Given the description of an element on the screen output the (x, y) to click on. 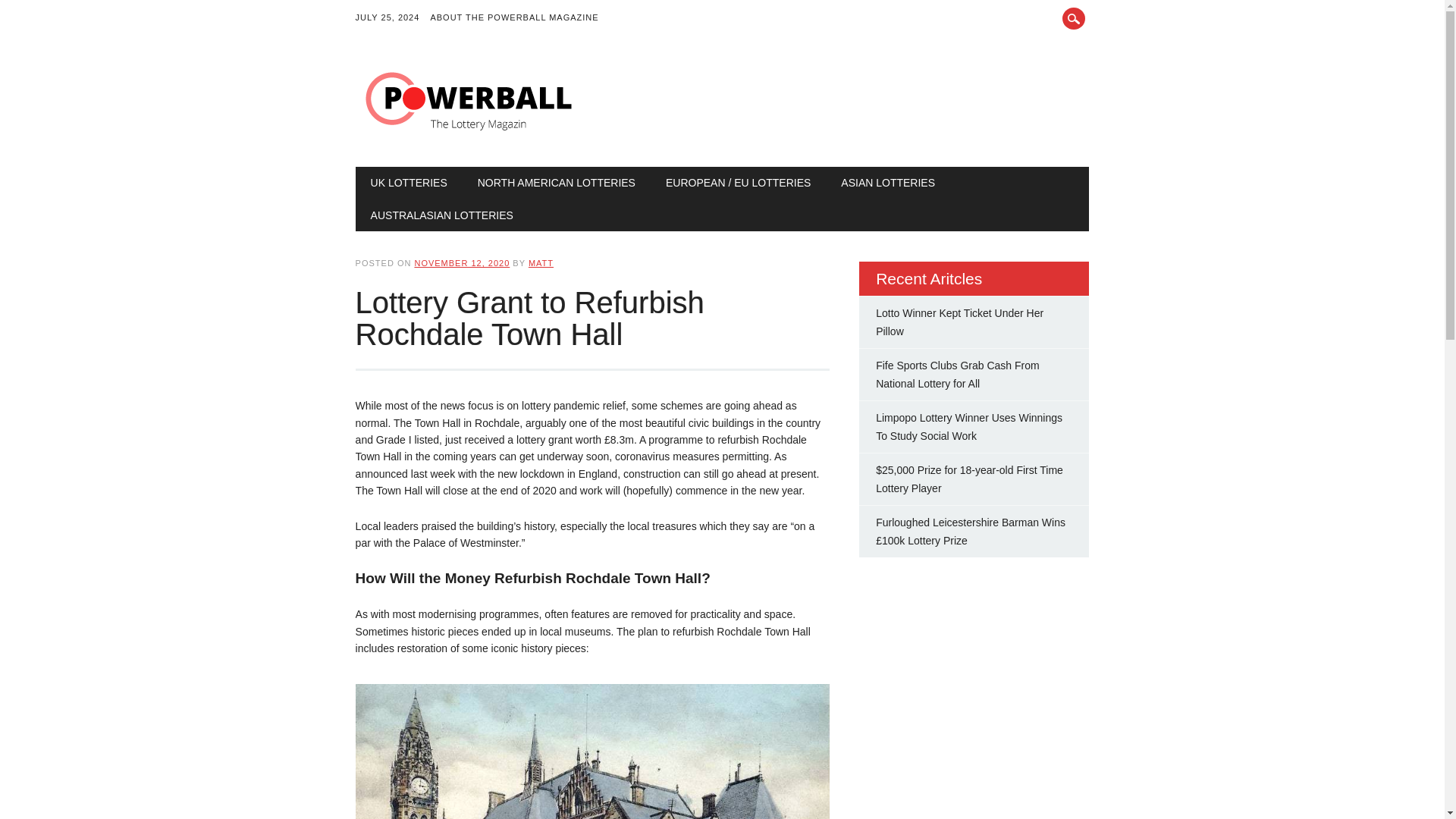
ASIAN LOTTERIES (887, 183)
10:50 am (461, 262)
NOVEMBER 12, 2020 (461, 262)
Fife Sports Clubs Grab Cash From National Lottery for All (957, 374)
Powerball (469, 135)
View all posts by Matt (540, 262)
NORTH AMERICAN LOTTERIES (556, 183)
MATT (540, 262)
ABOUT THE POWERBALL MAGAZINE (519, 17)
Lotto Winner Kept Ticket Under Her Pillow (959, 322)
UK LOTTERIES (409, 183)
AUSTRALASIAN LOTTERIES (441, 214)
Limpopo Lottery Winner Uses Winnings To Study Social Work (969, 426)
